Given the description of an element on the screen output the (x, y) to click on. 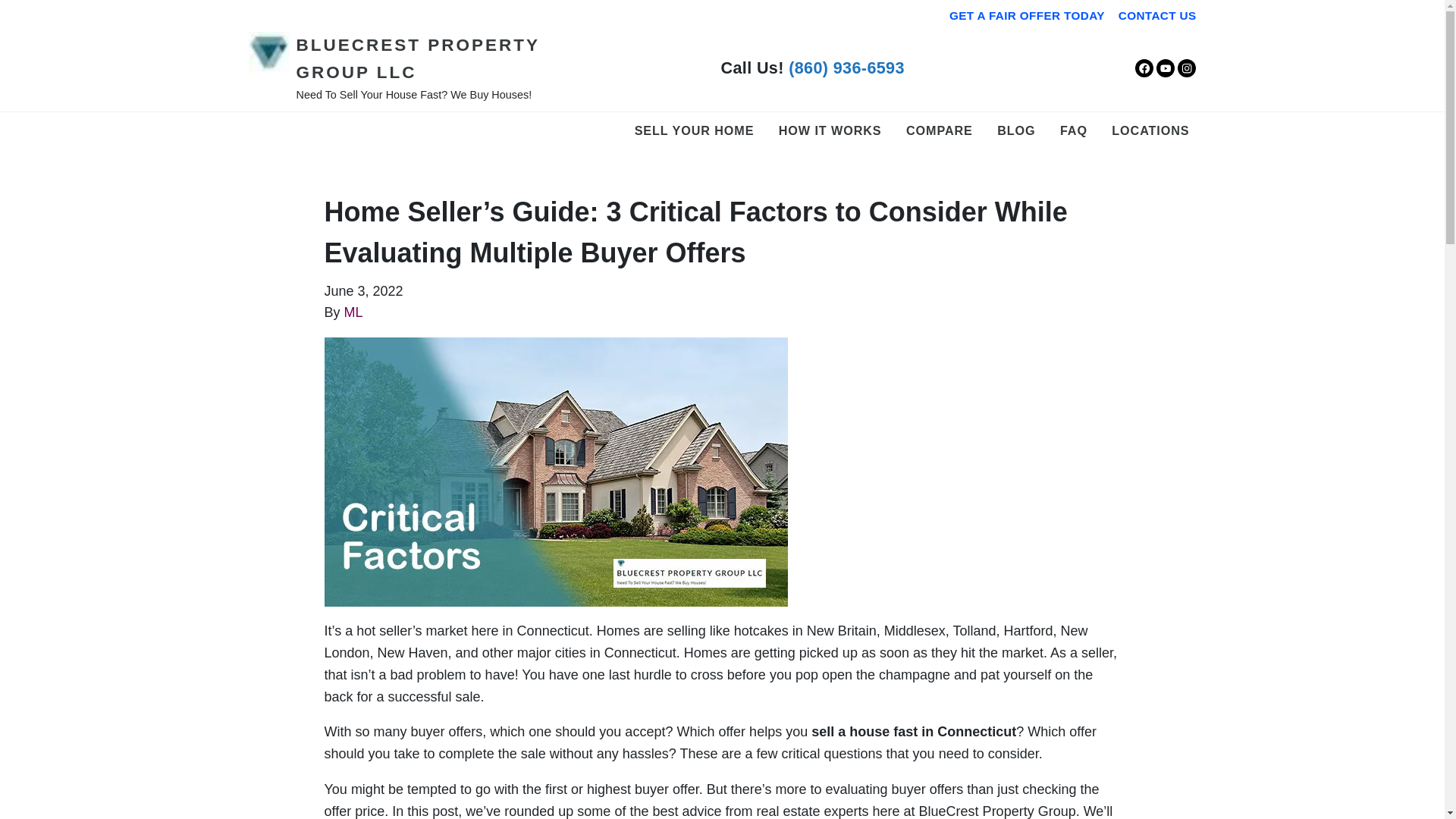
BLOG (1016, 131)
GET A FAIR OFFER TODAY (1027, 15)
COMPARE (939, 131)
SELL YOUR HOME (694, 131)
LOCATIONS (1150, 131)
ML (352, 312)
Facebook (1144, 67)
FAQ (1073, 131)
Instagram (1186, 67)
Compare (939, 131)
How It Works (829, 131)
Locations (1150, 131)
HOW IT WORKS (829, 131)
Sell Your Home (694, 131)
